Given the description of an element on the screen output the (x, y) to click on. 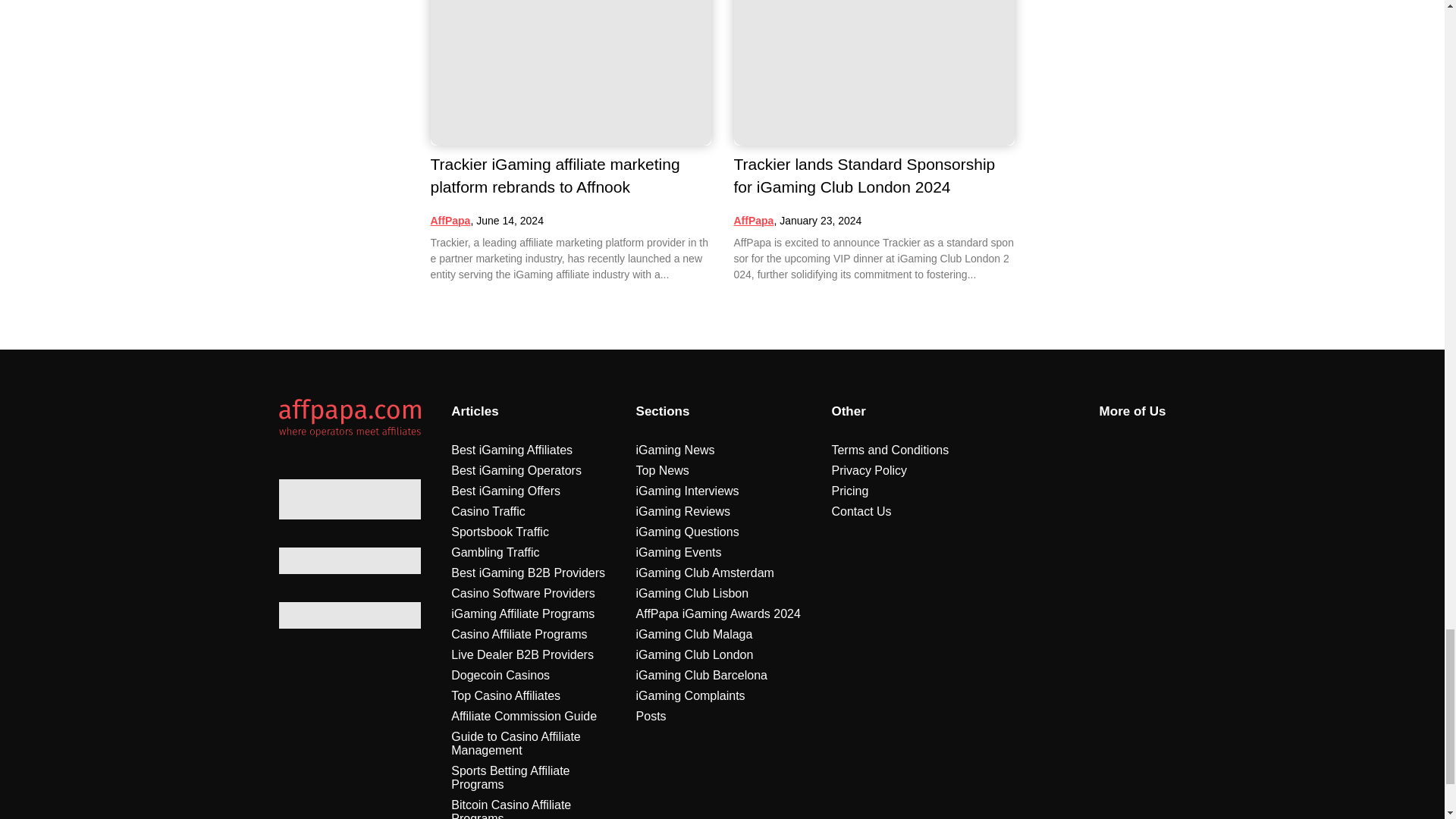
iGaming News Feed (450, 220)
